Given the description of an element on the screen output the (x, y) to click on. 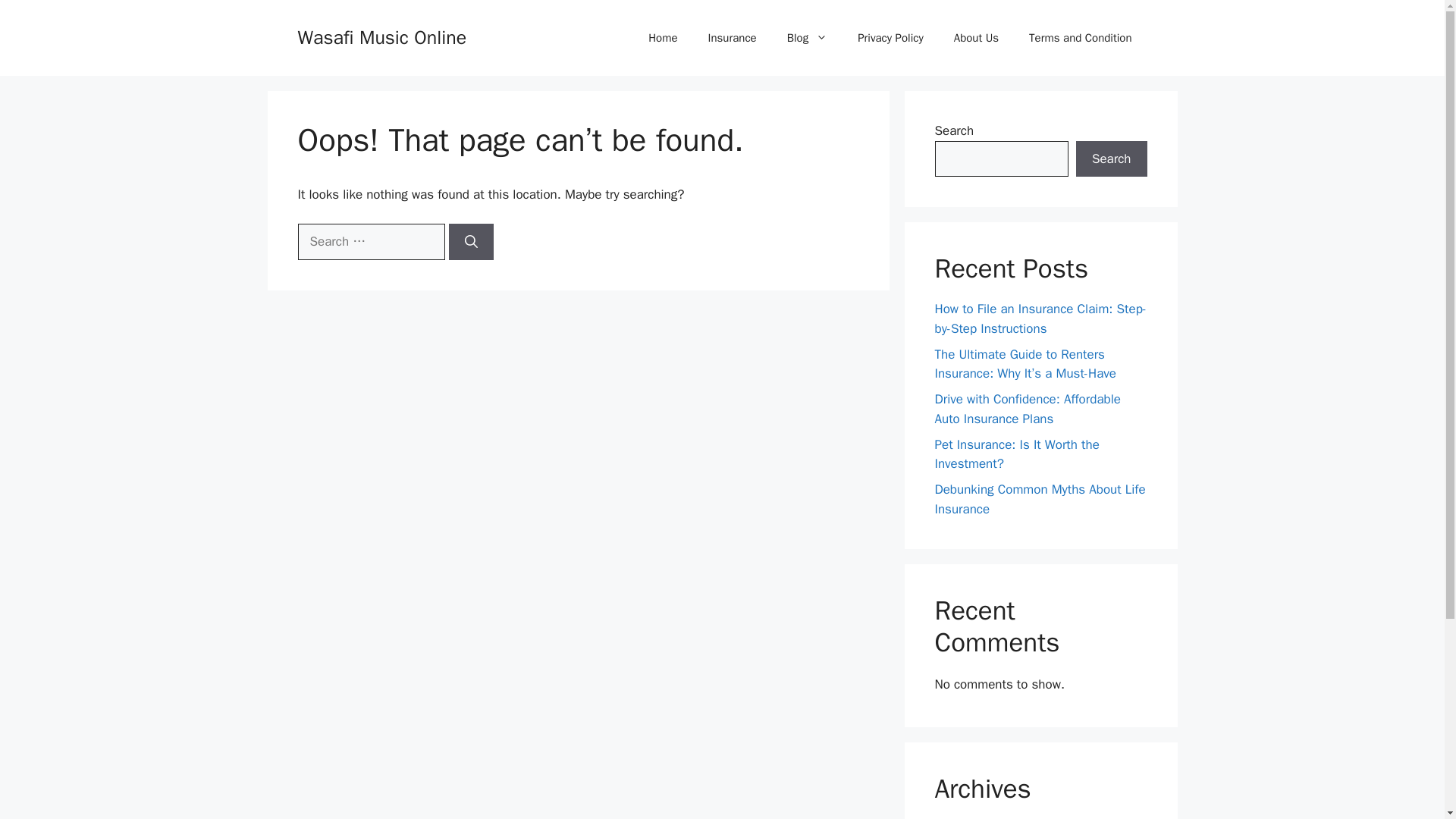
Pet Insurance: Is It Worth the Investment? (1016, 454)
Home (663, 37)
Insurance (732, 37)
Privacy Policy (891, 37)
Debunking Common Myths About Life Insurance (1039, 498)
Drive with Confidence: Affordable Auto Insurance Plans (1026, 408)
Search for: (370, 241)
Terms and Condition (1080, 37)
How to File an Insurance Claim: Step-by-Step Instructions (1039, 318)
About Us (976, 37)
Wasafi Music Online (381, 37)
Search (1111, 158)
Blog (807, 37)
